Given the description of an element on the screen output the (x, y) to click on. 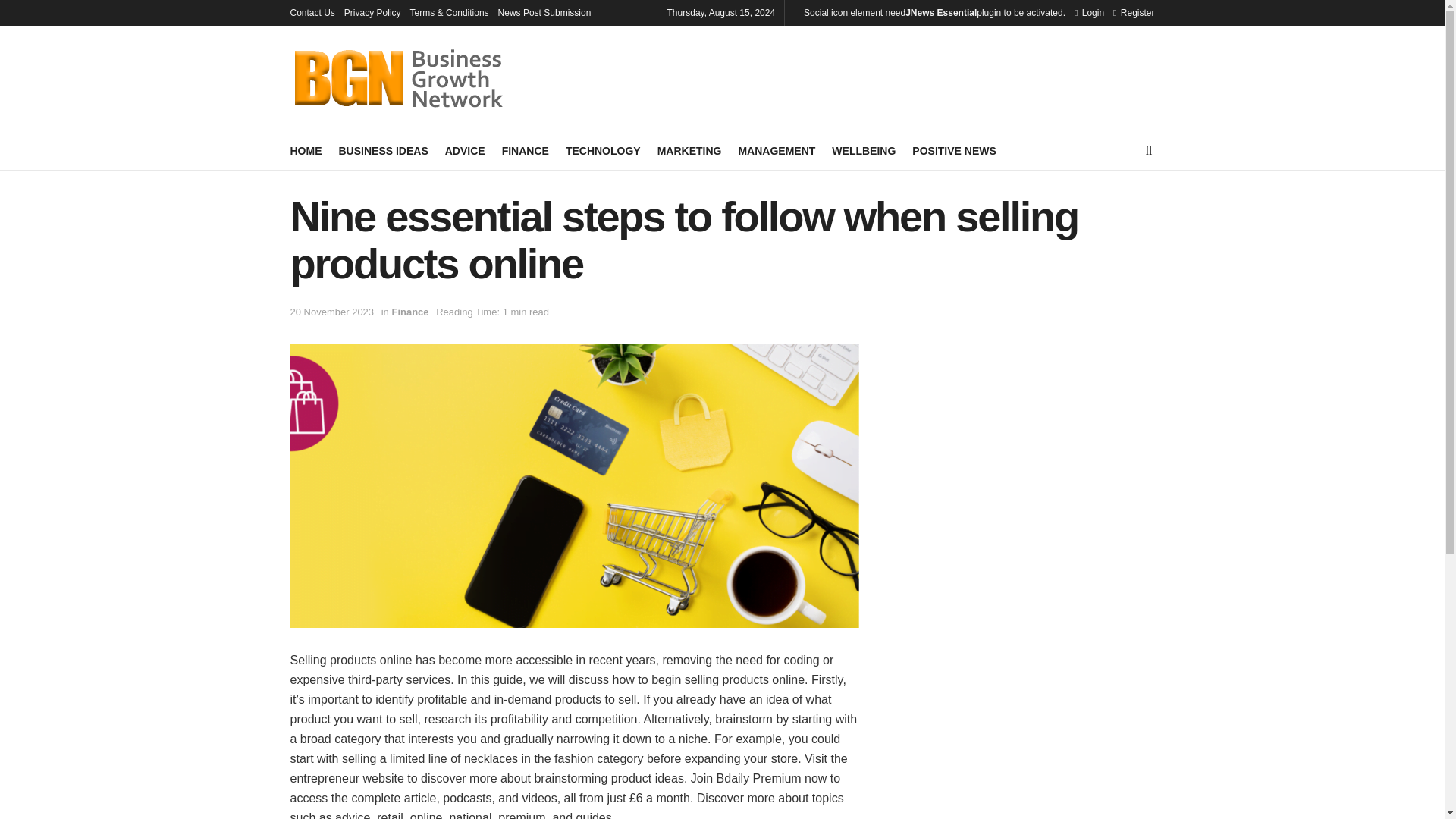
20 November 2023 (331, 311)
TECHNOLOGY (603, 150)
Contact Us (311, 12)
MARKETING (690, 150)
BUSINESS IDEAS (382, 150)
WELLBEING (863, 150)
Finance (409, 311)
FINANCE (525, 150)
HOME (305, 150)
